Given the description of an element on the screen output the (x, y) to click on. 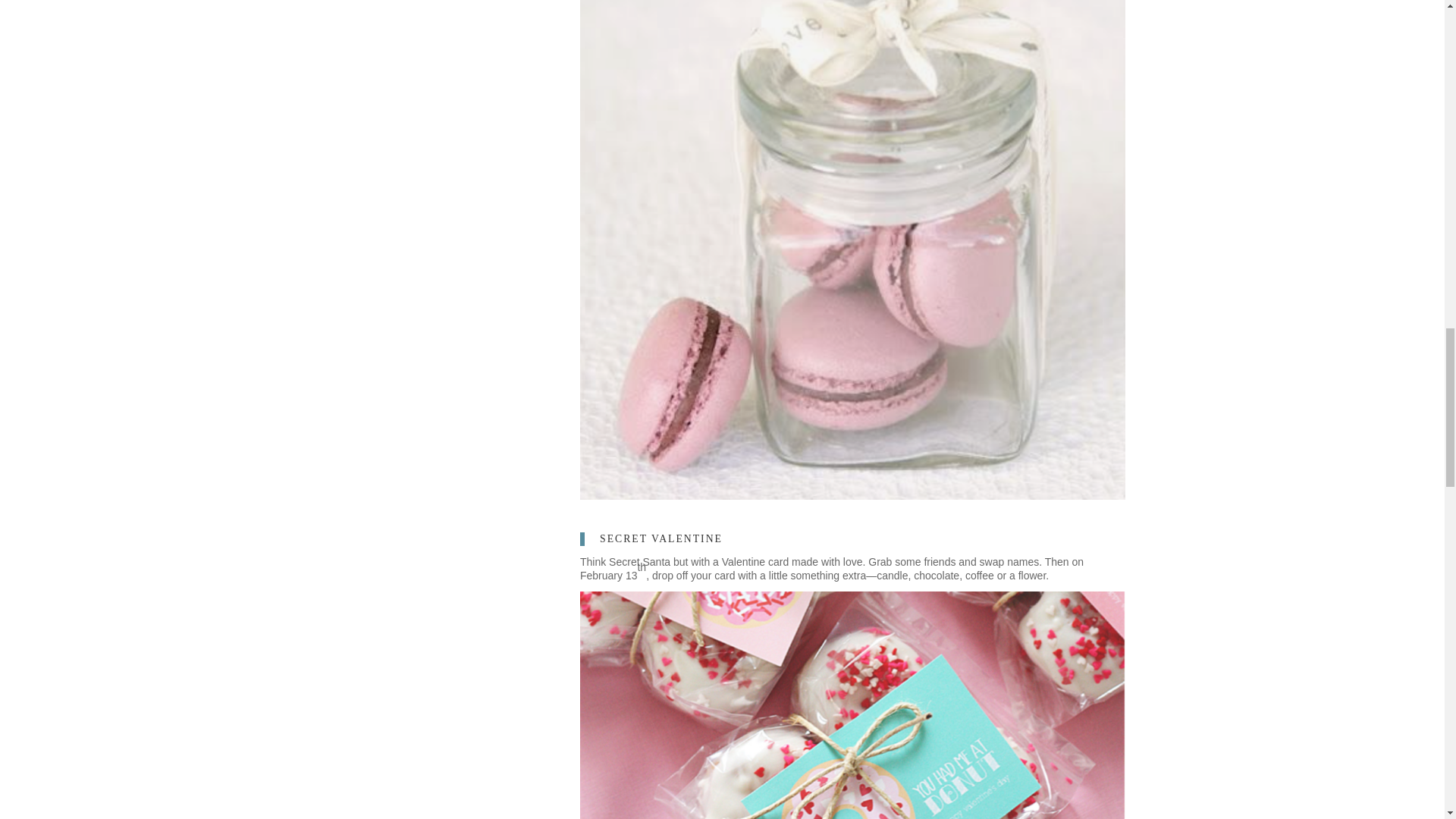
galentine 2 (852, 705)
